Given the description of an element on the screen output the (x, y) to click on. 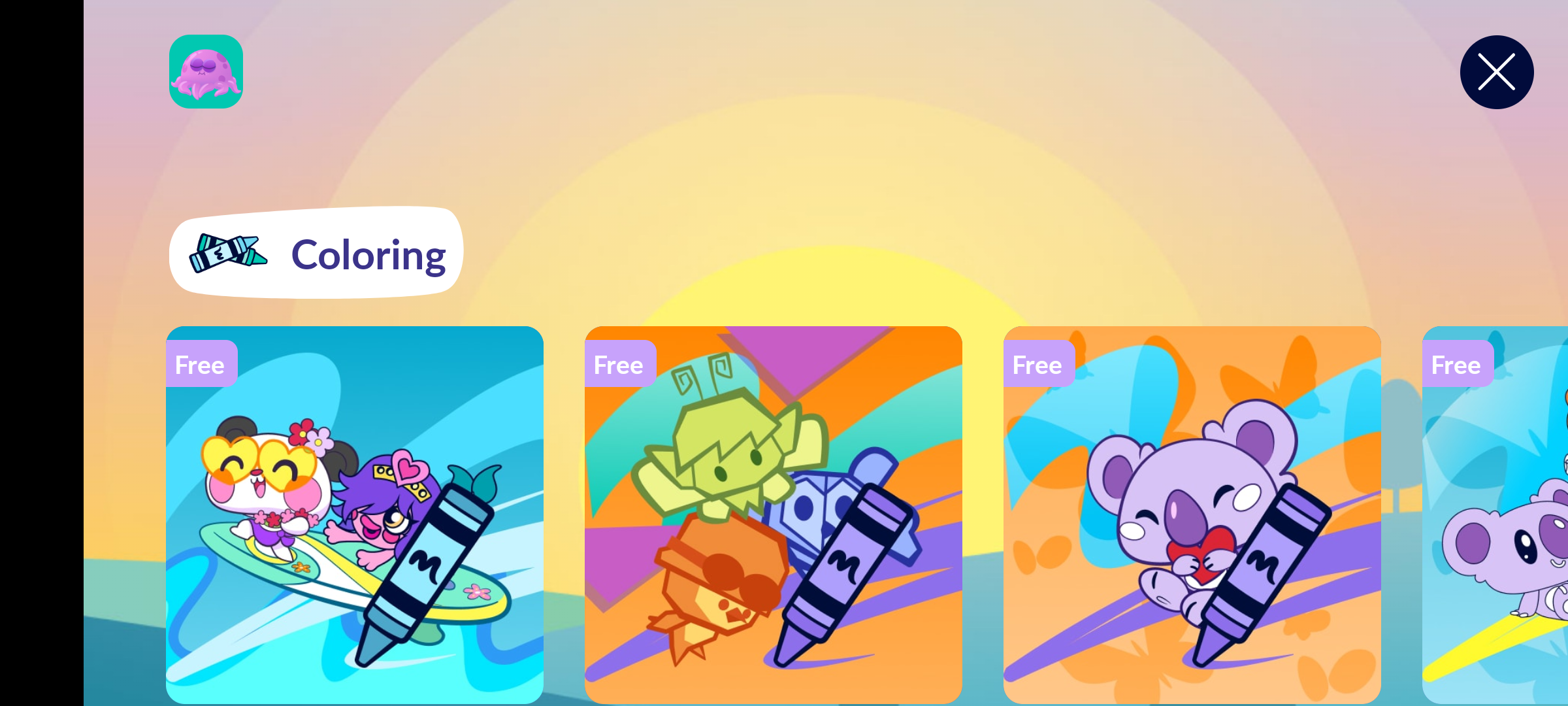
Profile icon (205, 71)
Featured Content Free (355, 514)
Featured Content Free (773, 514)
Featured Content Free (1192, 514)
